Given the description of an element on the screen output the (x, y) to click on. 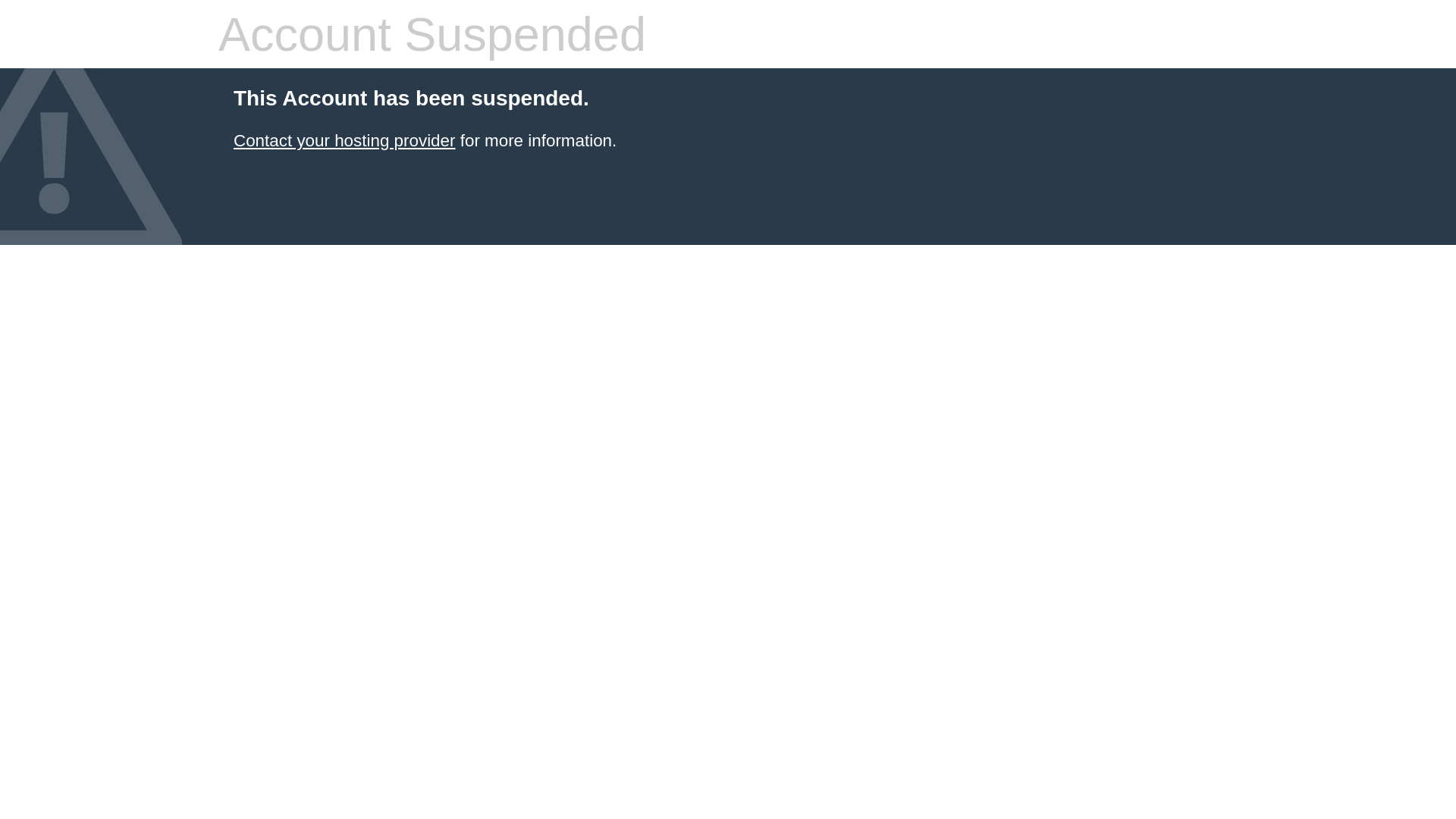
Contact your hosting provider Element type: text (344, 140)
